Given the description of an element on the screen output the (x, y) to click on. 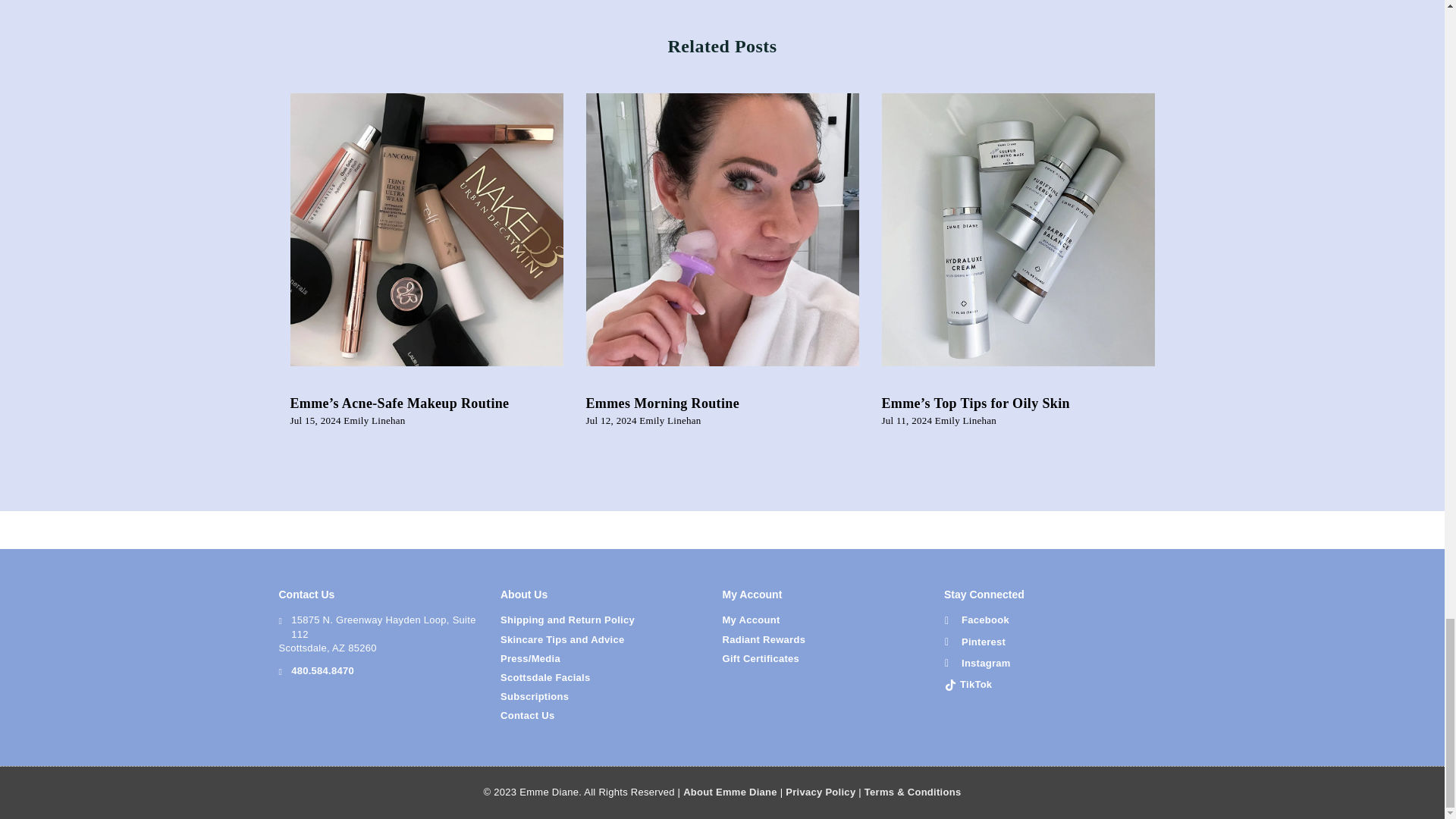
Emme Diane on Instagram (977, 663)
Emme Diane on TikTok (968, 684)
Emme Diane on Facebook (976, 620)
Emme Diane on Pinterest (974, 642)
